Given the description of an element on the screen output the (x, y) to click on. 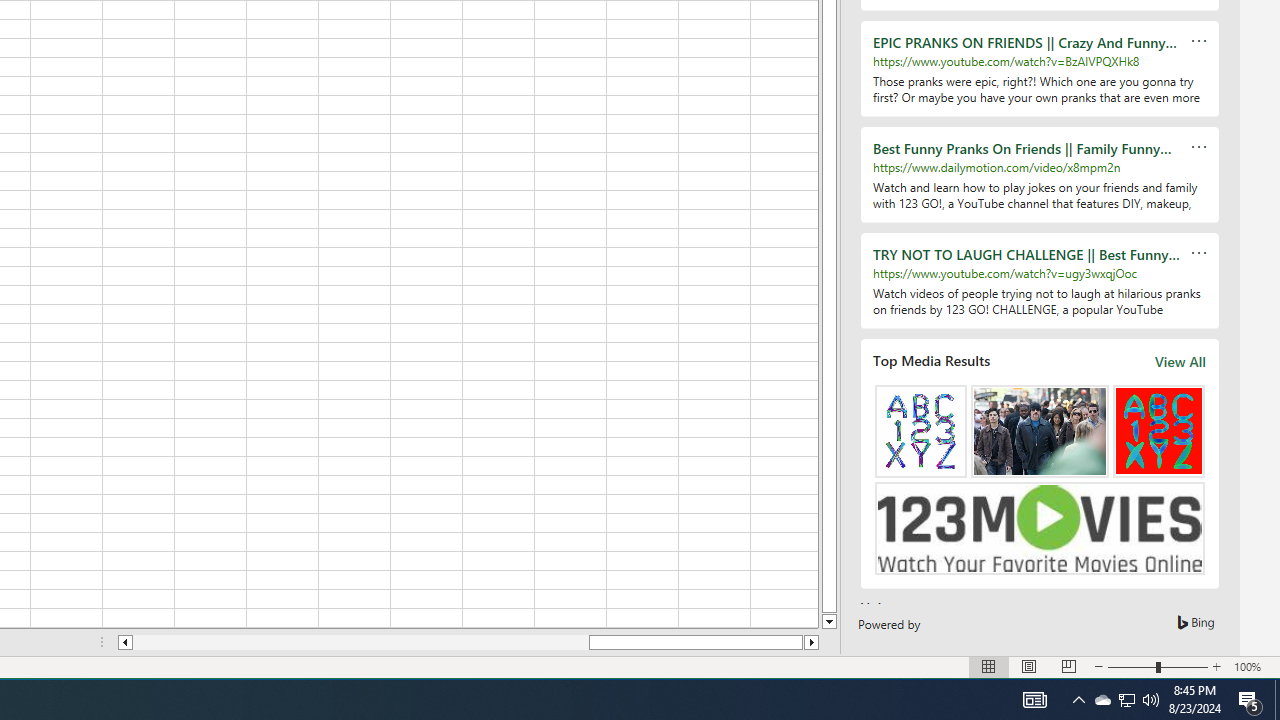
Show desktop (1277, 699)
User Promoted Notification Area (1126, 699)
